Given the description of an element on the screen output the (x, y) to click on. 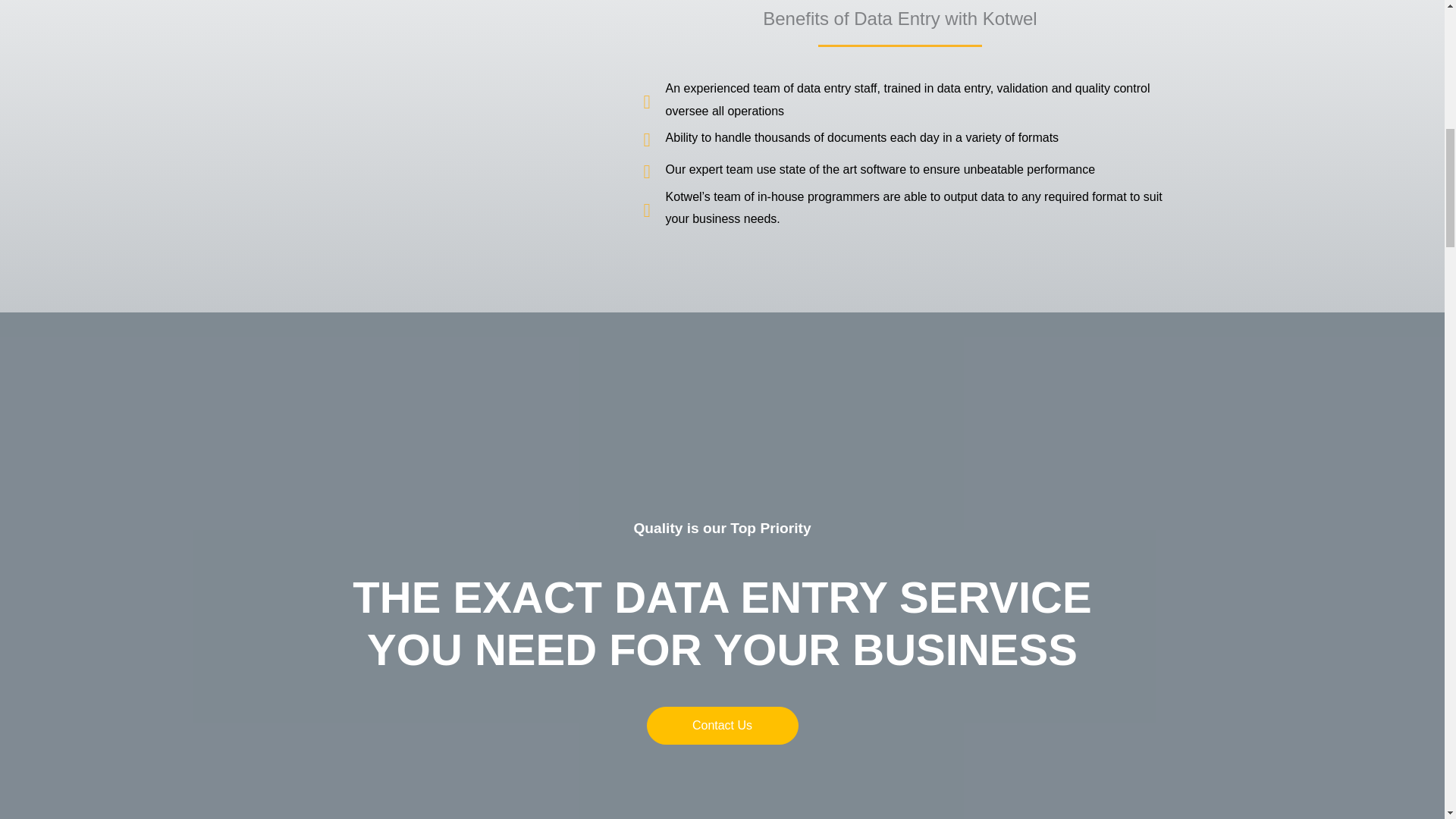
data background (435, 88)
Click Here (721, 725)
